Given the description of an element on the screen output the (x, y) to click on. 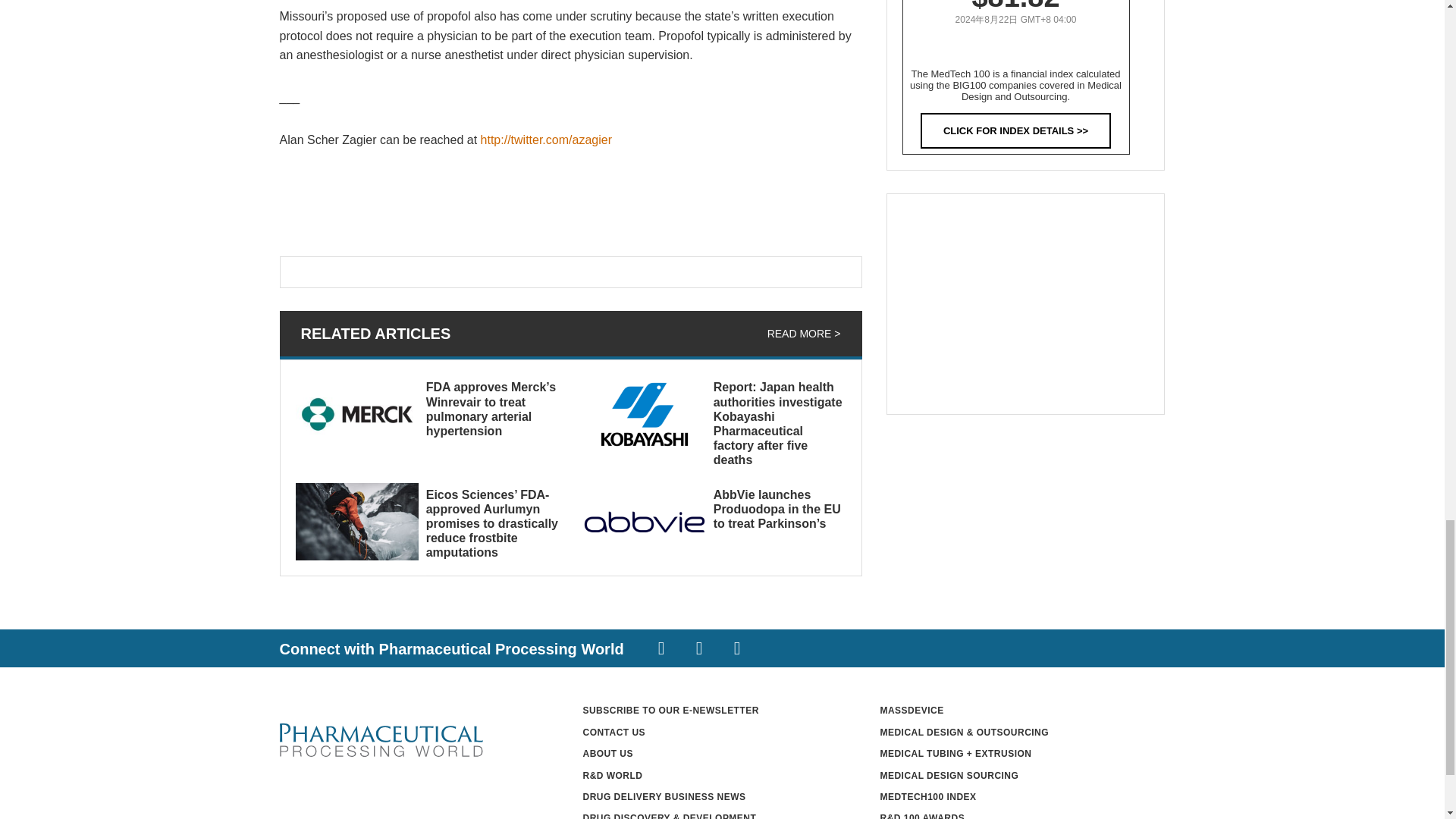
Pharmaceutical Processing World (380, 740)
SUBSCRIBE TO OUR E-NEWSLETTER (670, 710)
ABOUT US (607, 753)
DRUG DELIVERY BUSINESS NEWS (663, 796)
CONTACT US (613, 732)
3rd party ad content (1024, 303)
